Given the description of an element on the screen output the (x, y) to click on. 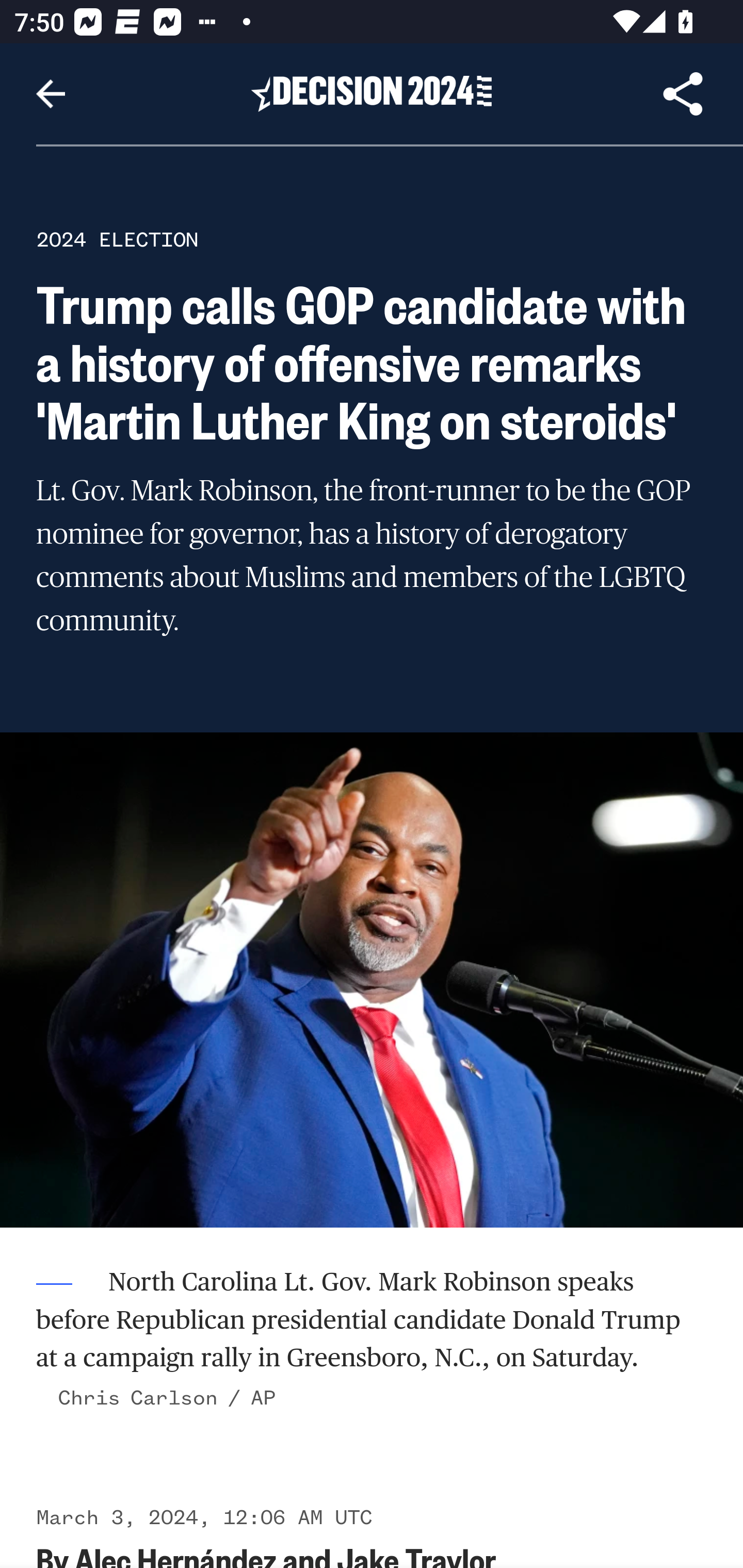
Navigate up (50, 93)
Share Article, button (683, 94)
Header, Decision 2024 (371, 93)
2024 ELECTION (117, 239)
